Given the description of an element on the screen output the (x, y) to click on. 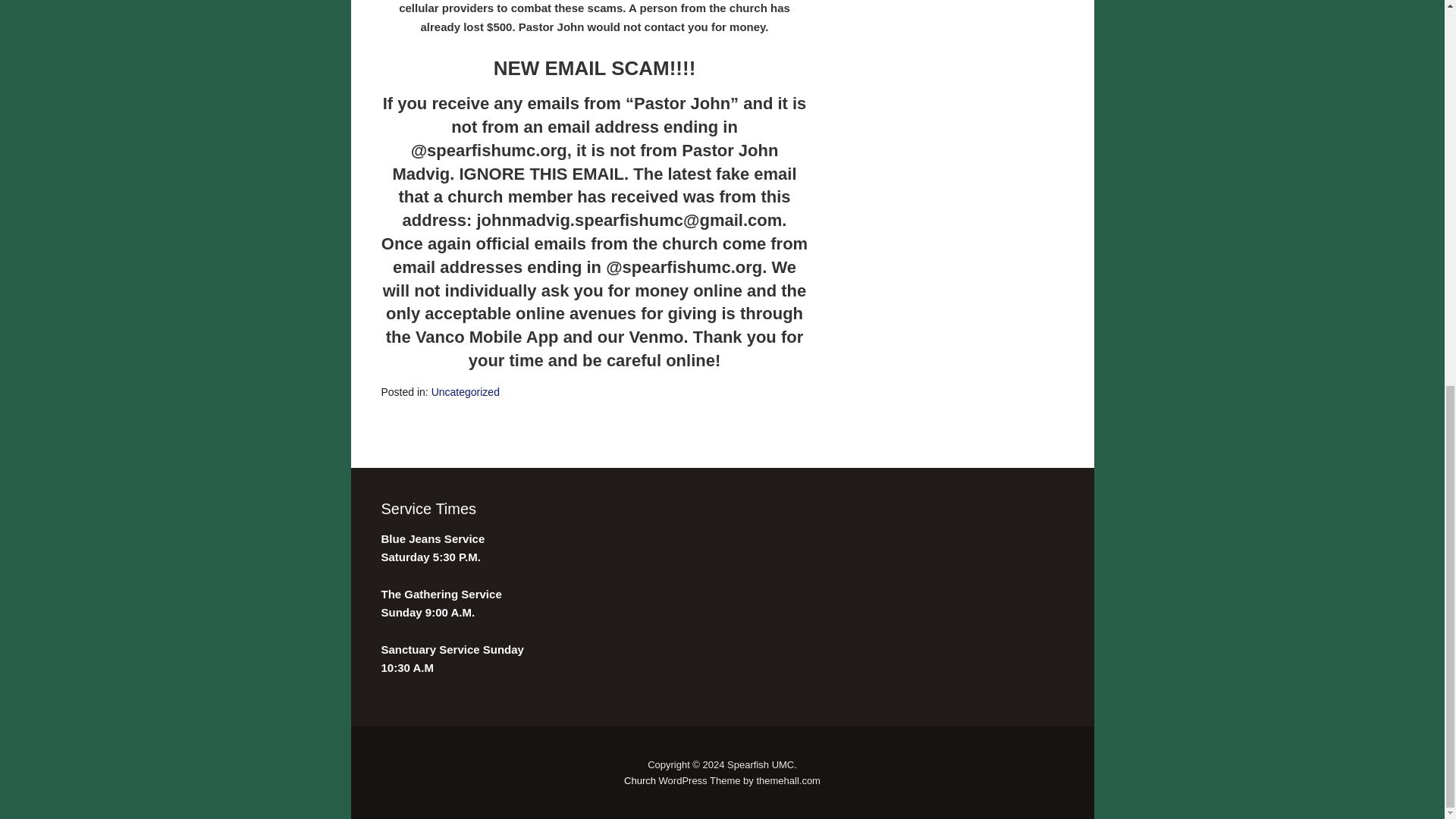
Church (640, 780)
Uncategorized (464, 391)
Church WordPress Theme (640, 780)
